Given the description of an element on the screen output the (x, y) to click on. 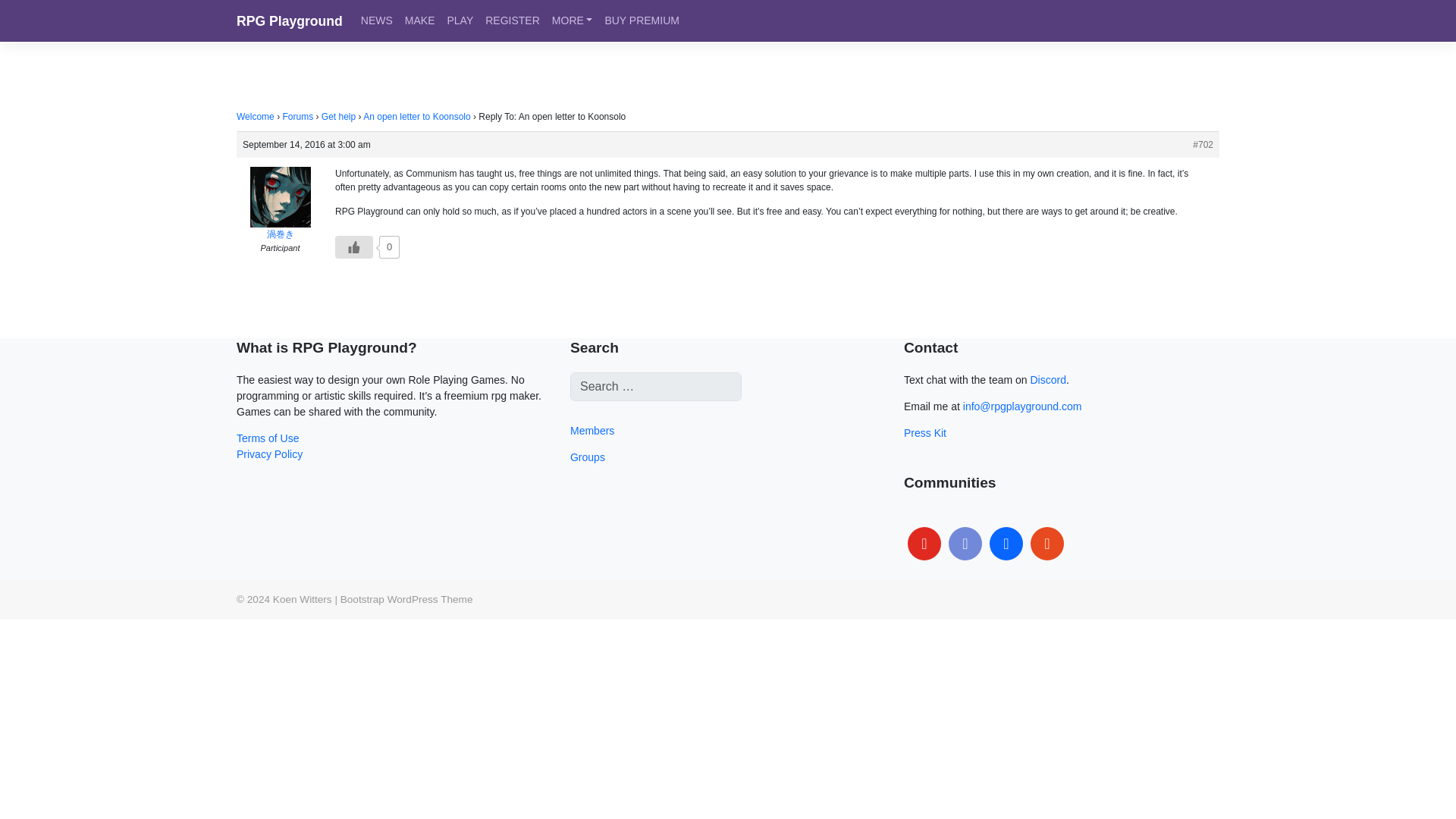
An open letter to Koonsolo (416, 116)
Buy Premium (641, 20)
WordPress Technical Support (406, 599)
Groups (587, 457)
RPG Playground (288, 20)
Press Kit (925, 432)
Get help (338, 116)
Register (512, 20)
MAKE (419, 20)
BUY PREMIUM (641, 20)
Make (419, 20)
Bootstrap WordPress Theme (406, 599)
PLAY (460, 20)
More (572, 20)
MORE (572, 20)
